Given the description of an element on the screen output the (x, y) to click on. 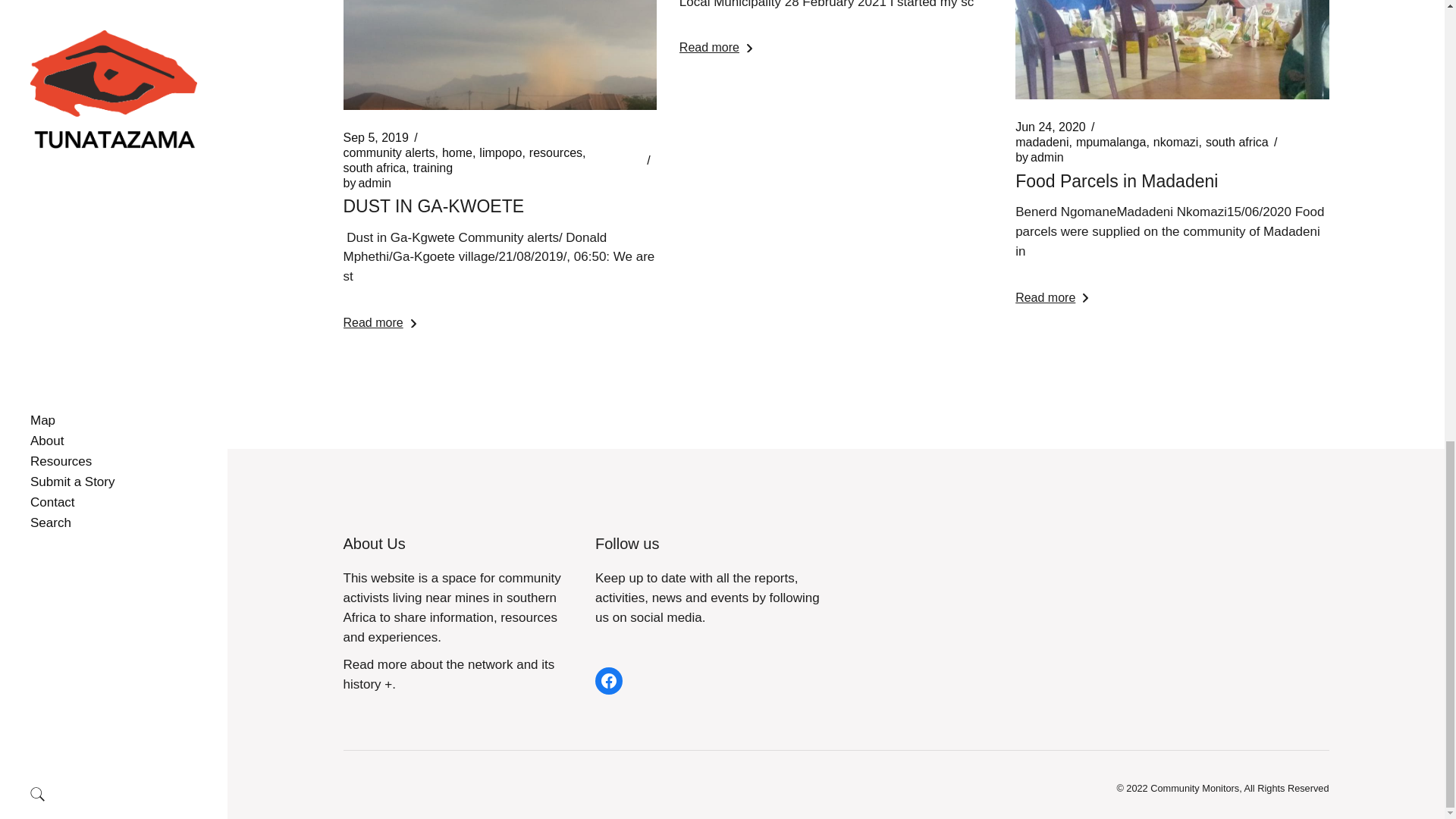
training (432, 168)
community alerts (387, 152)
Sep 5, 2019 (374, 137)
DUST IN GA-KWOETE (433, 206)
limpopo (500, 152)
south africa (374, 168)
resources (555, 152)
home (456, 152)
Read more (378, 322)
